Given the description of an element on the screen output the (x, y) to click on. 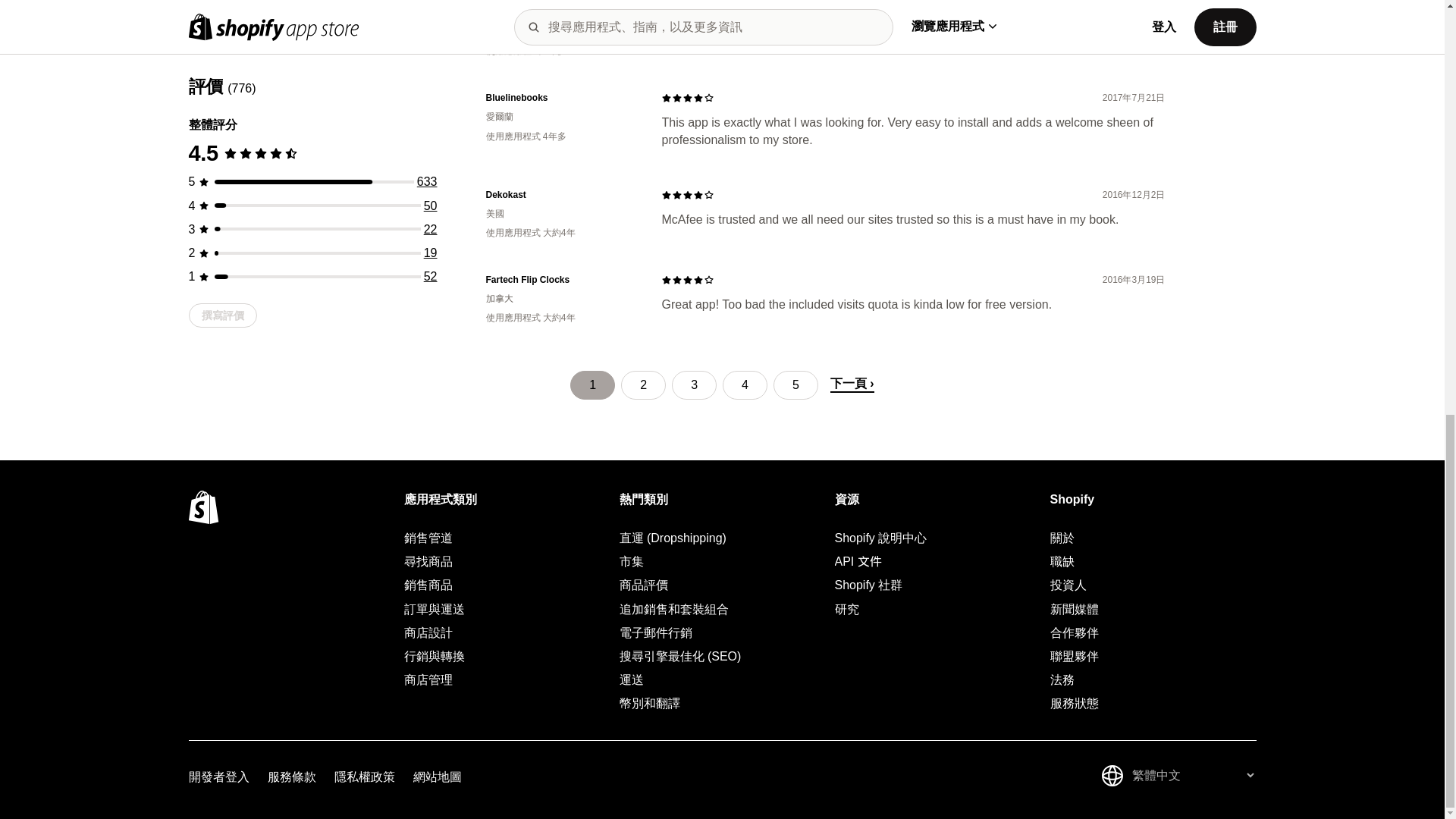
Battle Patches (560, 12)
Fartech Flip Clocks (560, 279)
Bluelinebooks (560, 97)
Dekokast (560, 195)
